Given the description of an element on the screen output the (x, y) to click on. 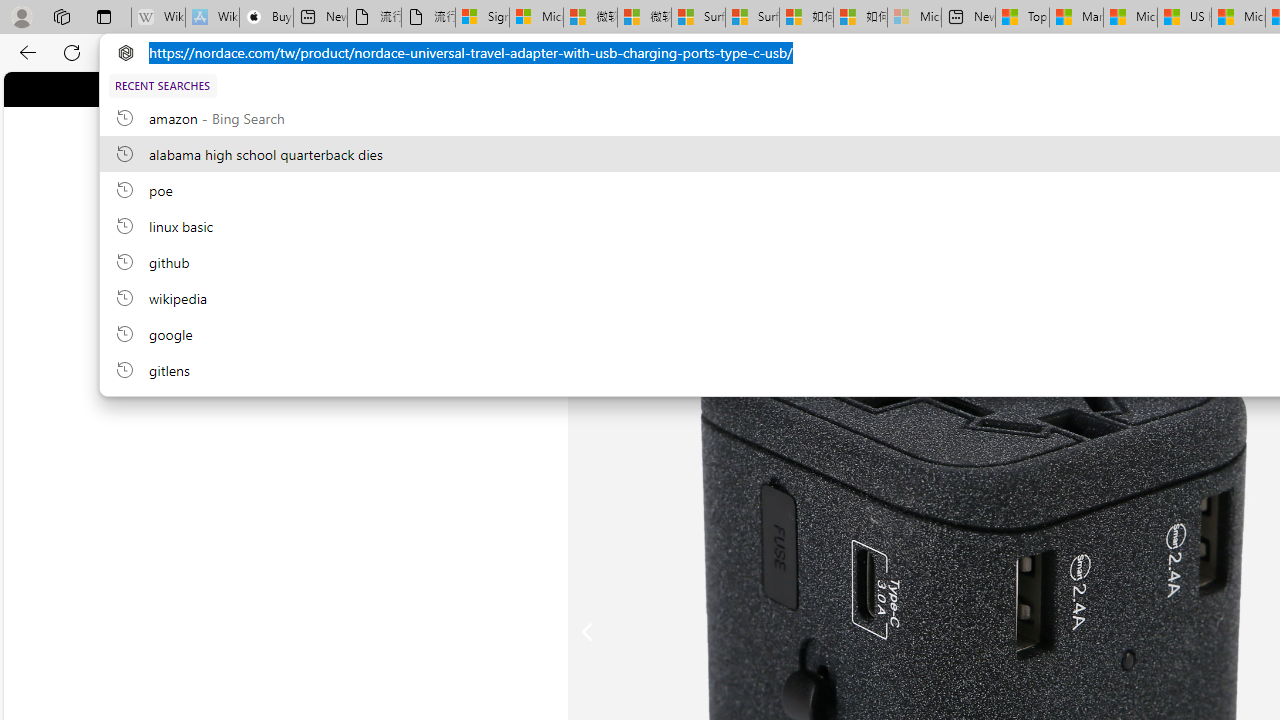
US Heat Deaths Soared To Record High Last Year (1184, 17)
Follow on Facebook (576, 88)
Sign in to your Microsoft account (482, 17)
Follow on Instagram (596, 88)
Buy iPad - Apple (266, 17)
Top Stories - MSN (1022, 17)
